Given the description of an element on the screen output the (x, y) to click on. 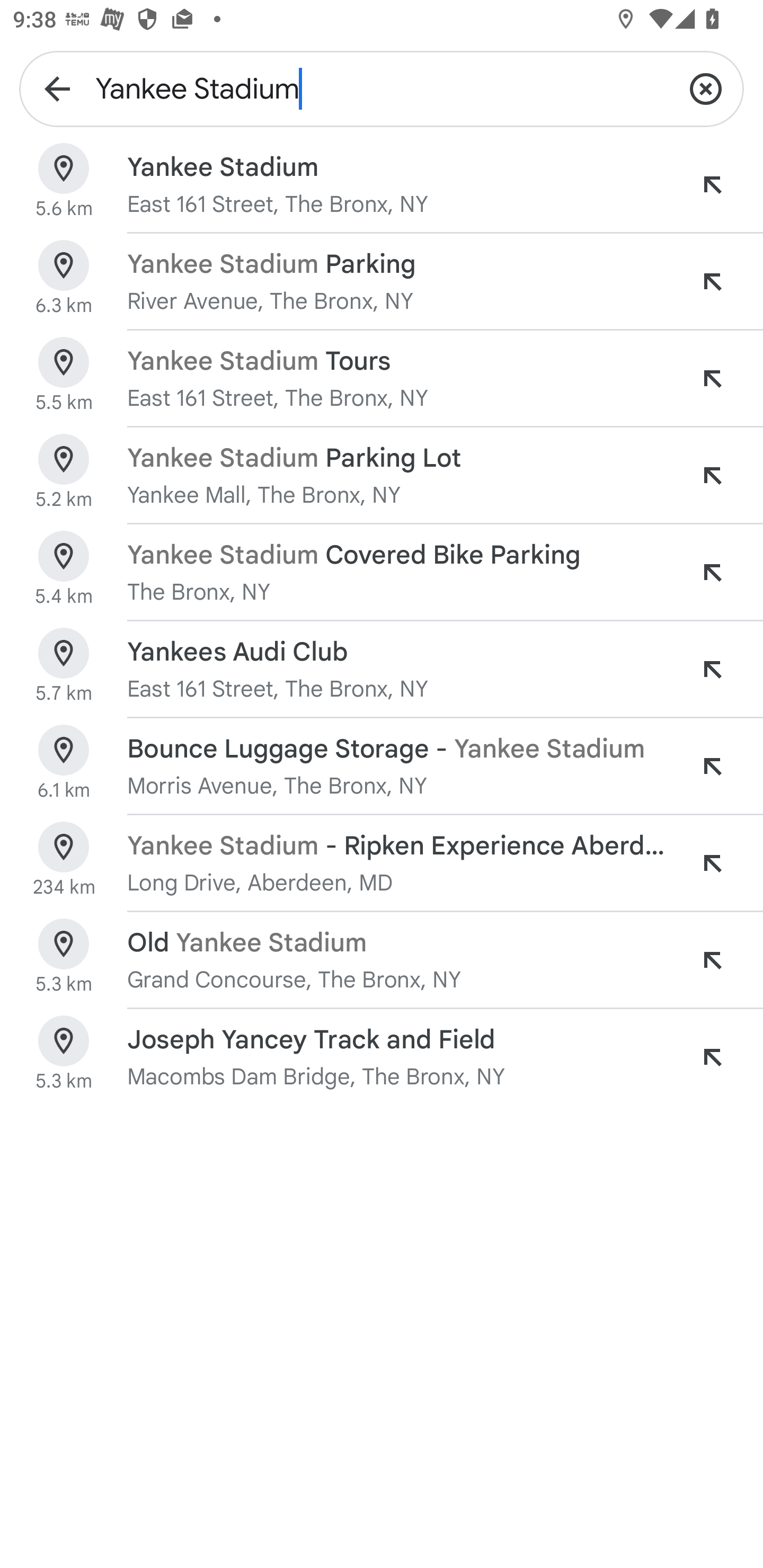
Navigate up (57, 88)
Yankee Stadium (381, 88)
Clear (705, 88)
